Given the description of an element on the screen output the (x, y) to click on. 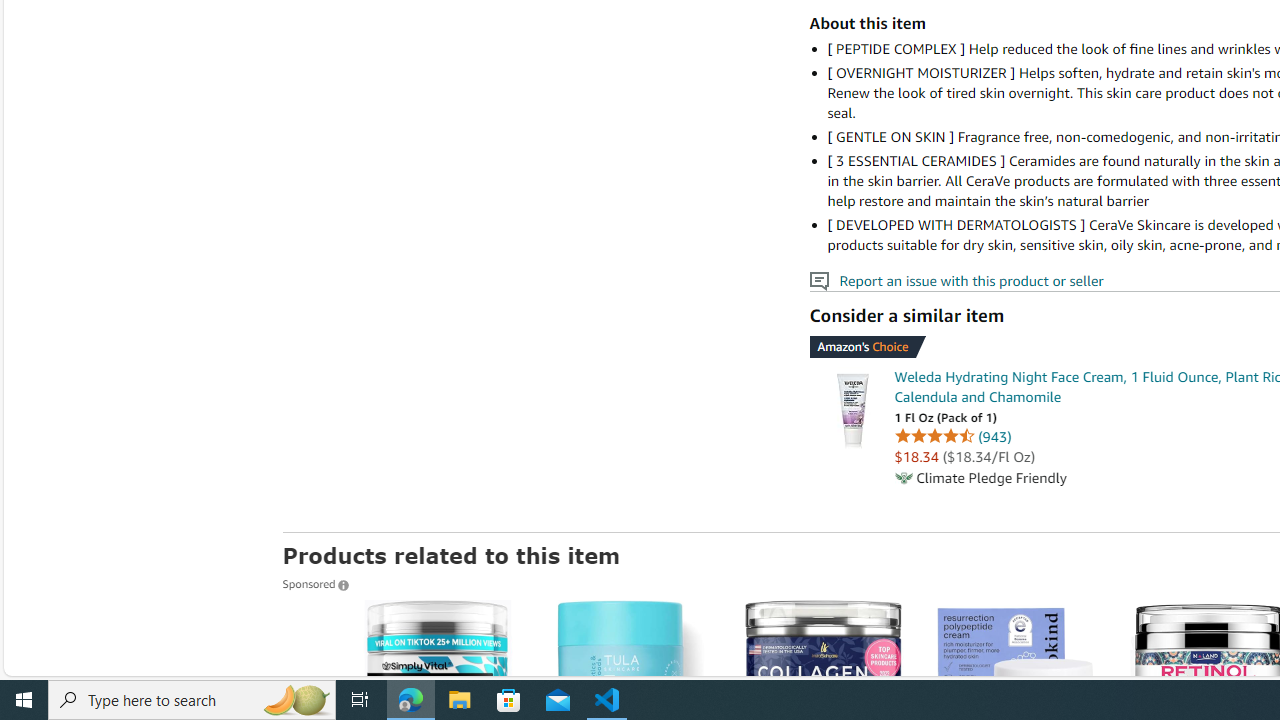
Sponsored  (315, 583)
943 ratings (994, 436)
Report an issue with this product or seller (818, 281)
Climate Pledge Friendly (902, 478)
